Given the description of an element on the screen output the (x, y) to click on. 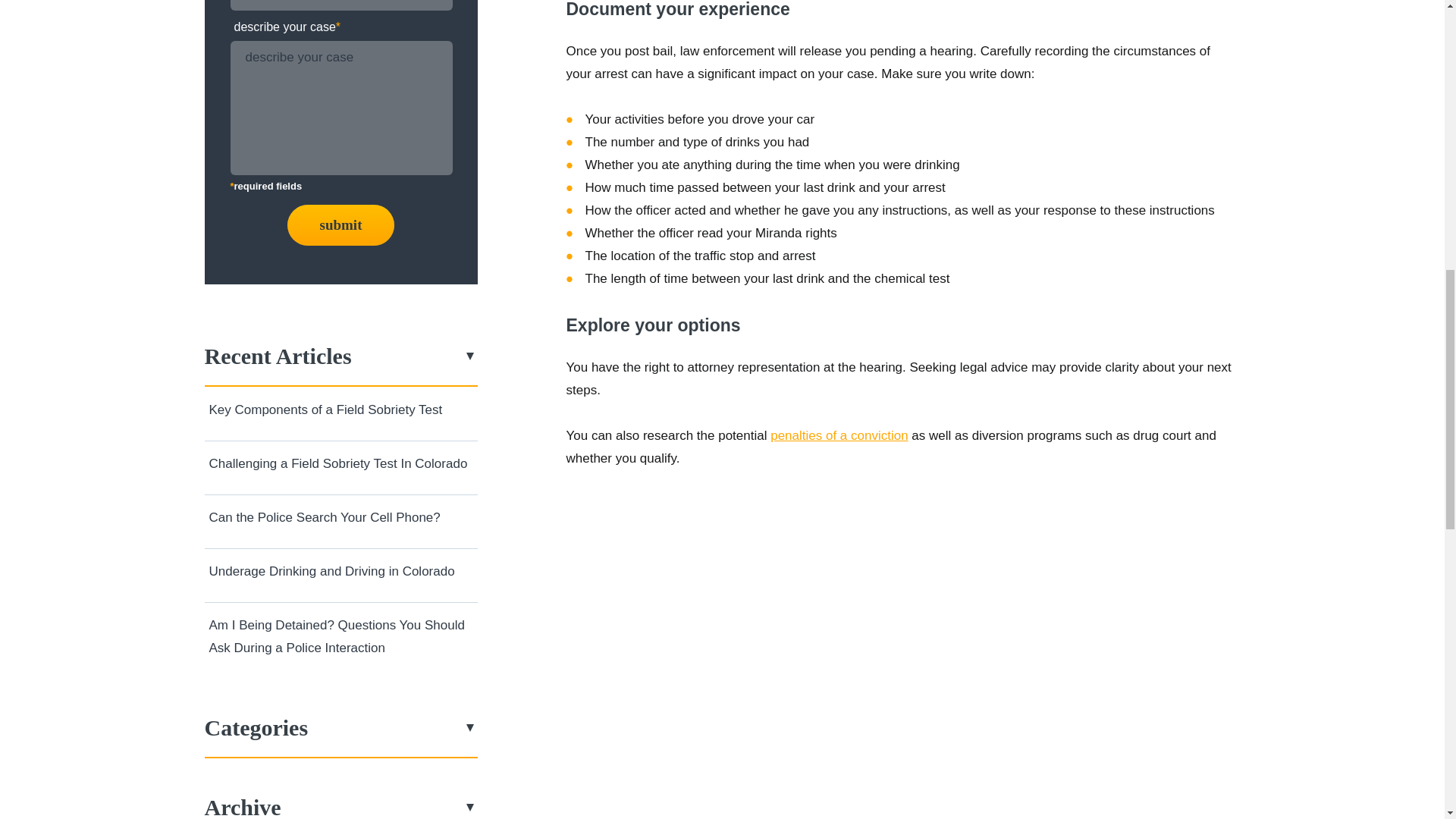
Key Components of a Field Sobriety Test (325, 409)
Underage Drinking and Driving in Colorado (331, 571)
Challenging a Field Sobriety Test In Colorado (338, 463)
submit (340, 224)
penalties of a conviction (838, 435)
Can the Police Search Your Cell Phone? (325, 517)
